Given the description of an element on the screen output the (x, y) to click on. 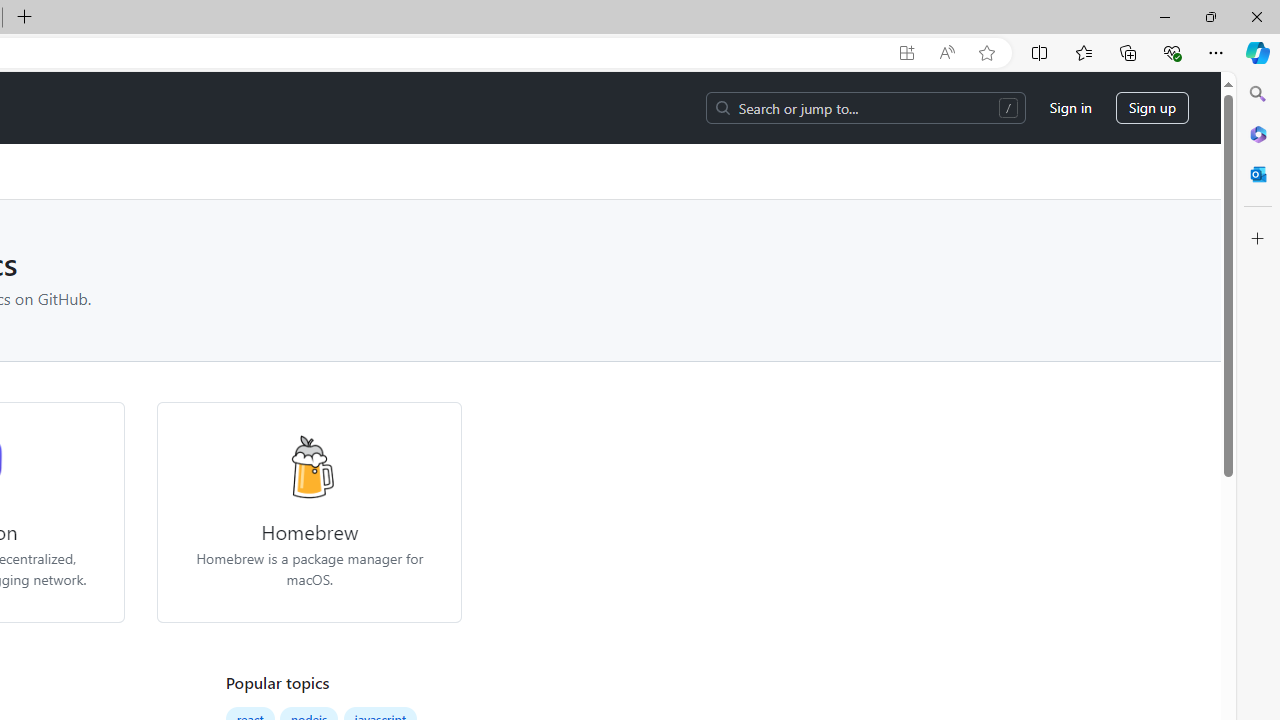
Sign in (1070, 107)
Close Outlook pane (1258, 174)
homebrew Homebrew Homebrew is a package manager for macOS. (309, 511)
Sign up (1152, 107)
App available. Install GitHub (906, 53)
